Given the description of an element on the screen output the (x, y) to click on. 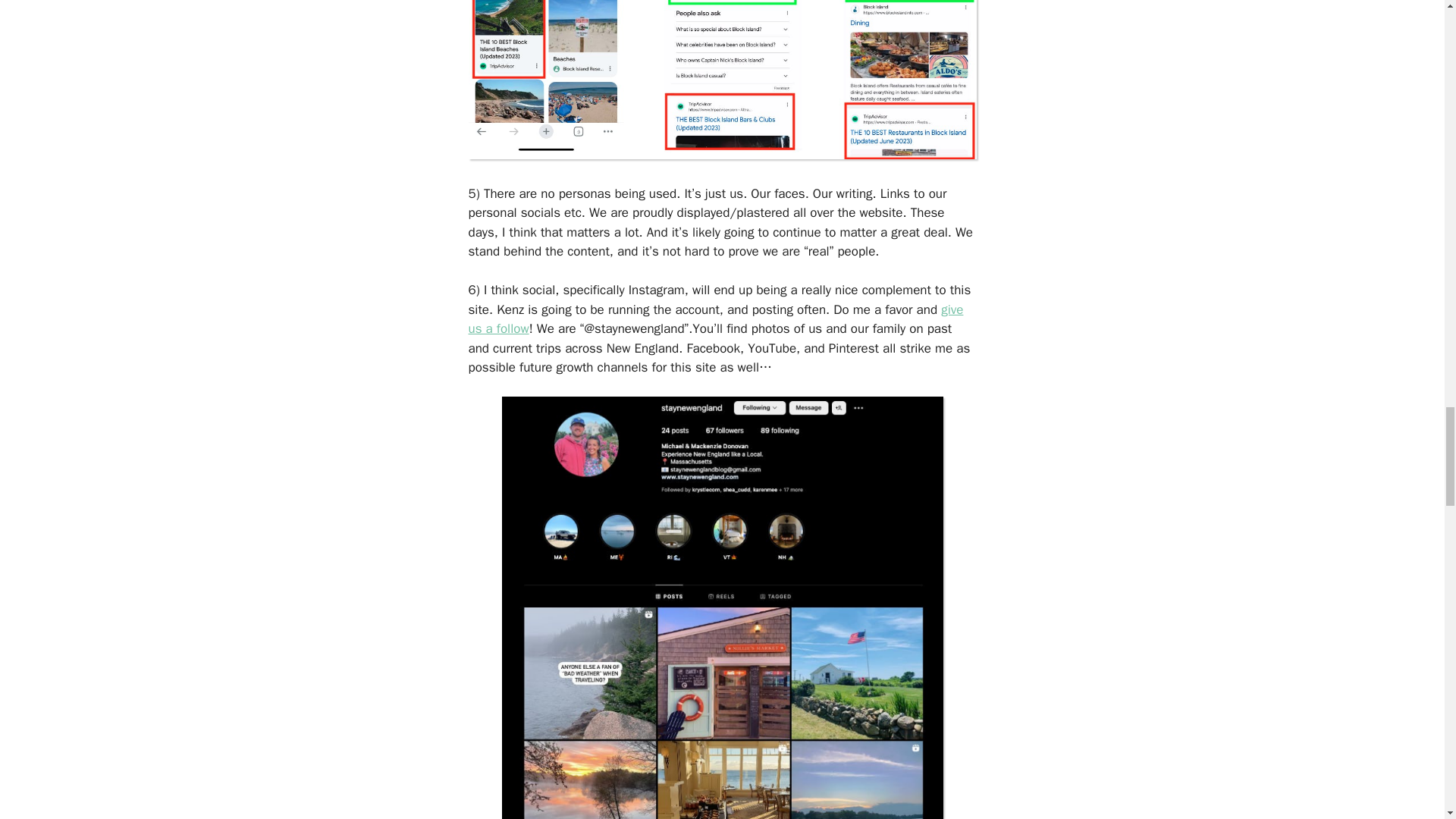
give us a follow (715, 319)
